Given the description of an element on the screen output the (x, y) to click on. 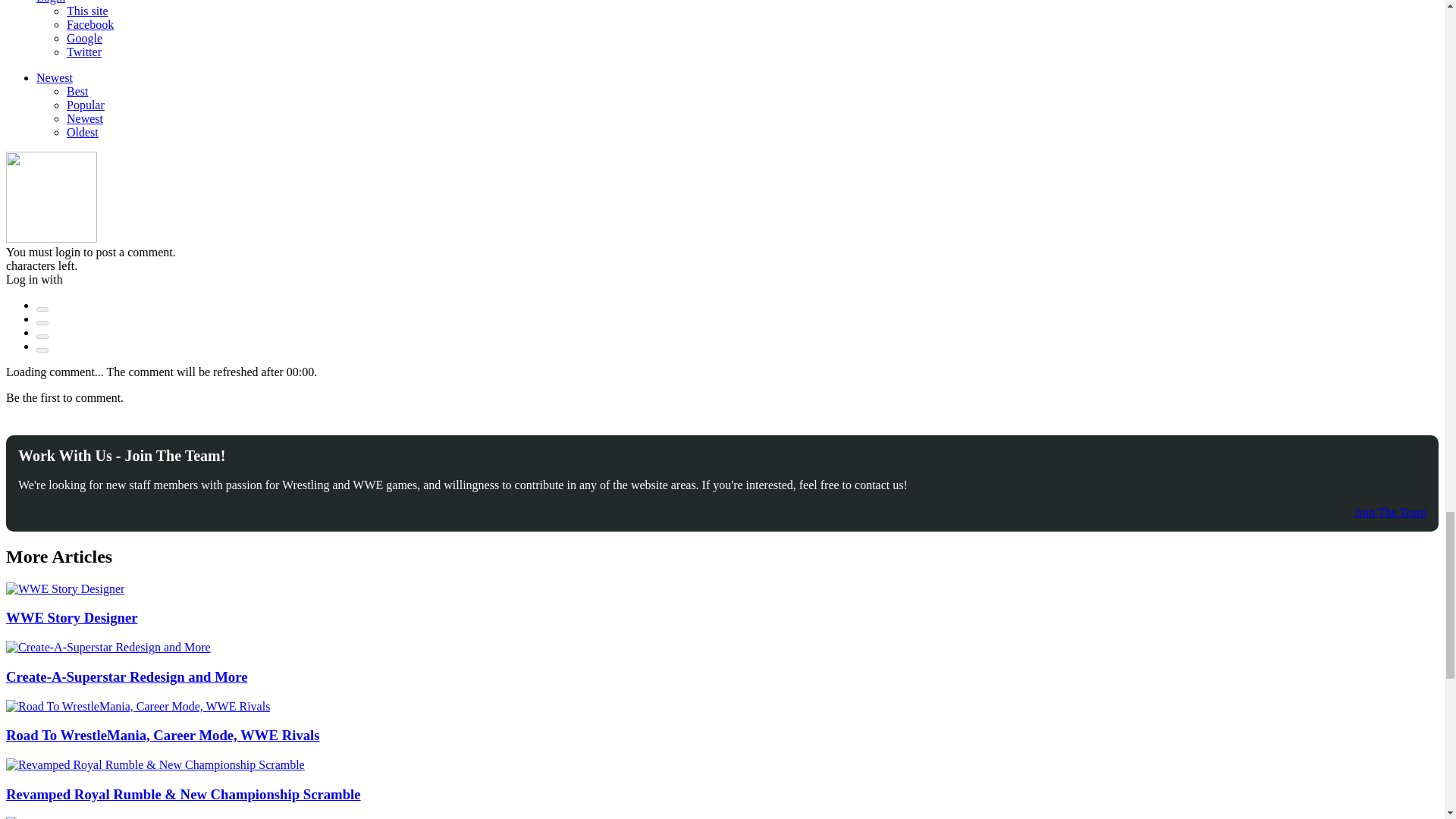
Twitter Login (42, 336)
Google Login (42, 350)
Login (42, 309)
Extensive Roster (52, 817)
WWE Story Designer (64, 589)
Facebook Login (42, 323)
Create-A-Superstar Redesign and More (108, 647)
Road To WrestleMania, Career Mode, WWE Rivals (137, 705)
